Given the description of an element on the screen output the (x, y) to click on. 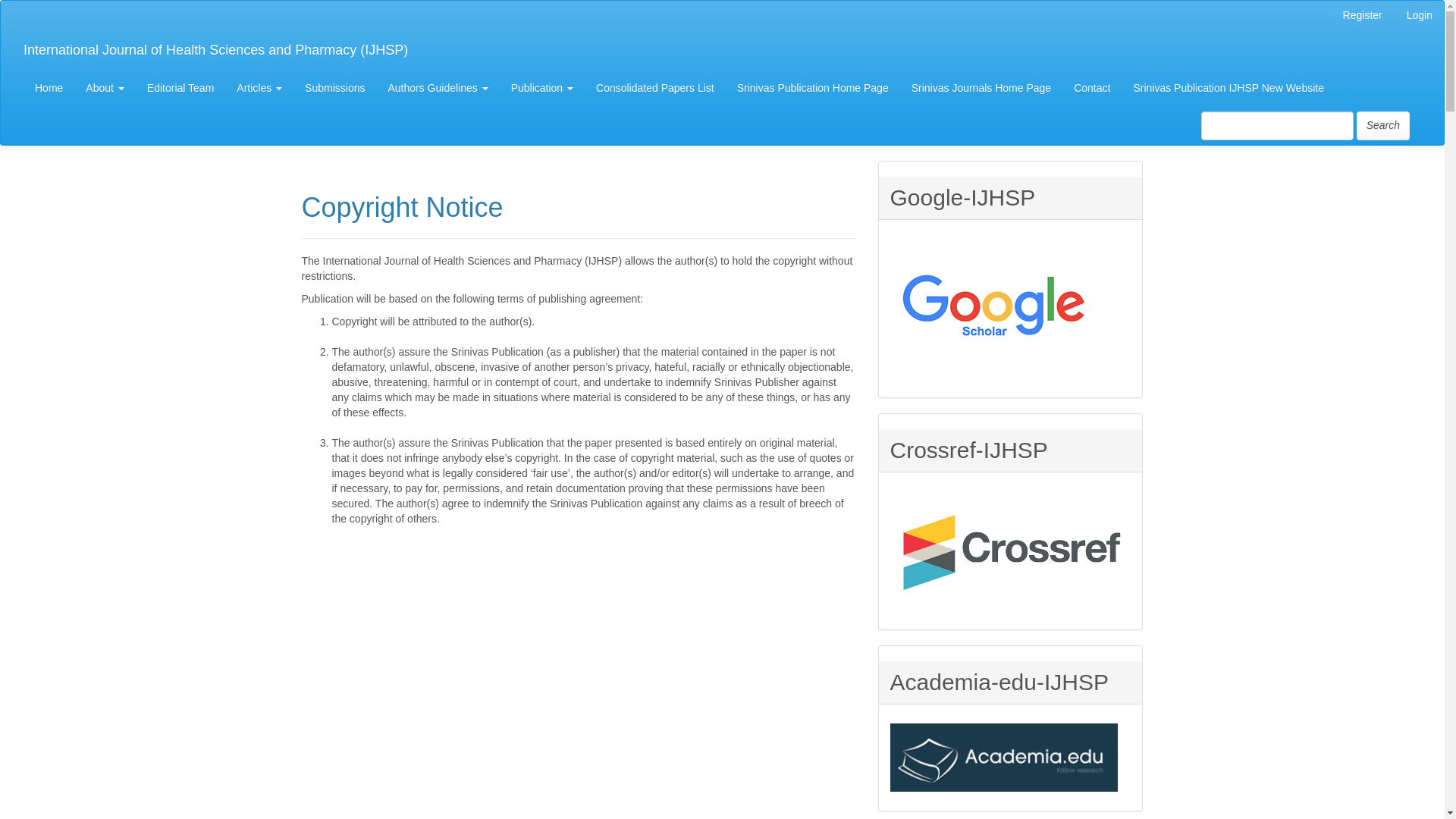
Submissions (334, 87)
Srinivas Journals Home Page (980, 87)
Register (1362, 15)
Articles (259, 87)
Authors Guidelines (437, 87)
Search (1382, 125)
About (104, 87)
Login (1419, 15)
Home (48, 87)
Srinivas Publication IJHSP New Website (1228, 87)
Publication (542, 87)
Editorial Team (180, 87)
Contact (1091, 87)
Srinivas Publication Home Page (812, 87)
Consolidated Papers List (655, 87)
